Given the description of an element on the screen output the (x, y) to click on. 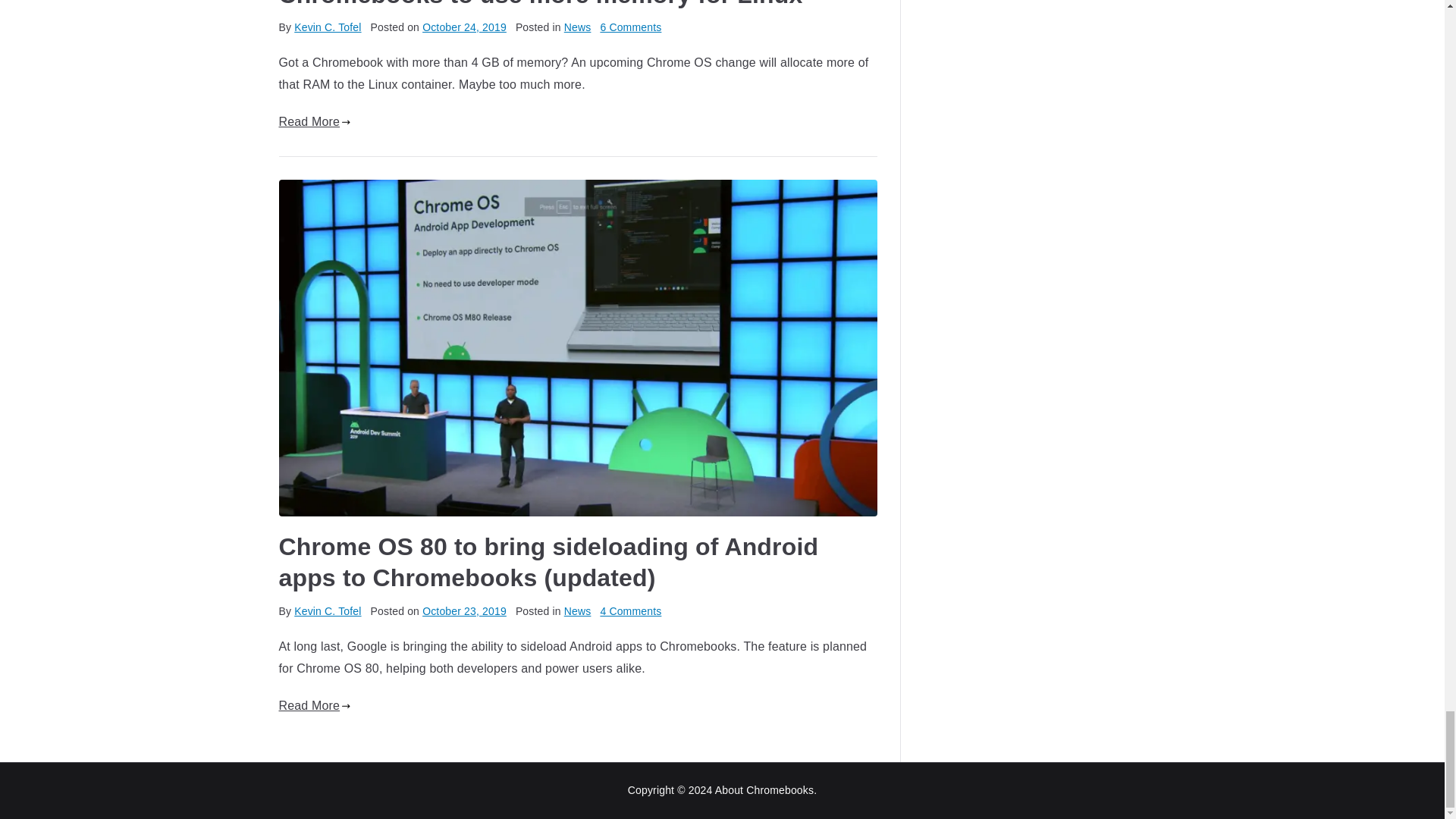
About Chromebooks (763, 789)
